Given the description of an element on the screen output the (x, y) to click on. 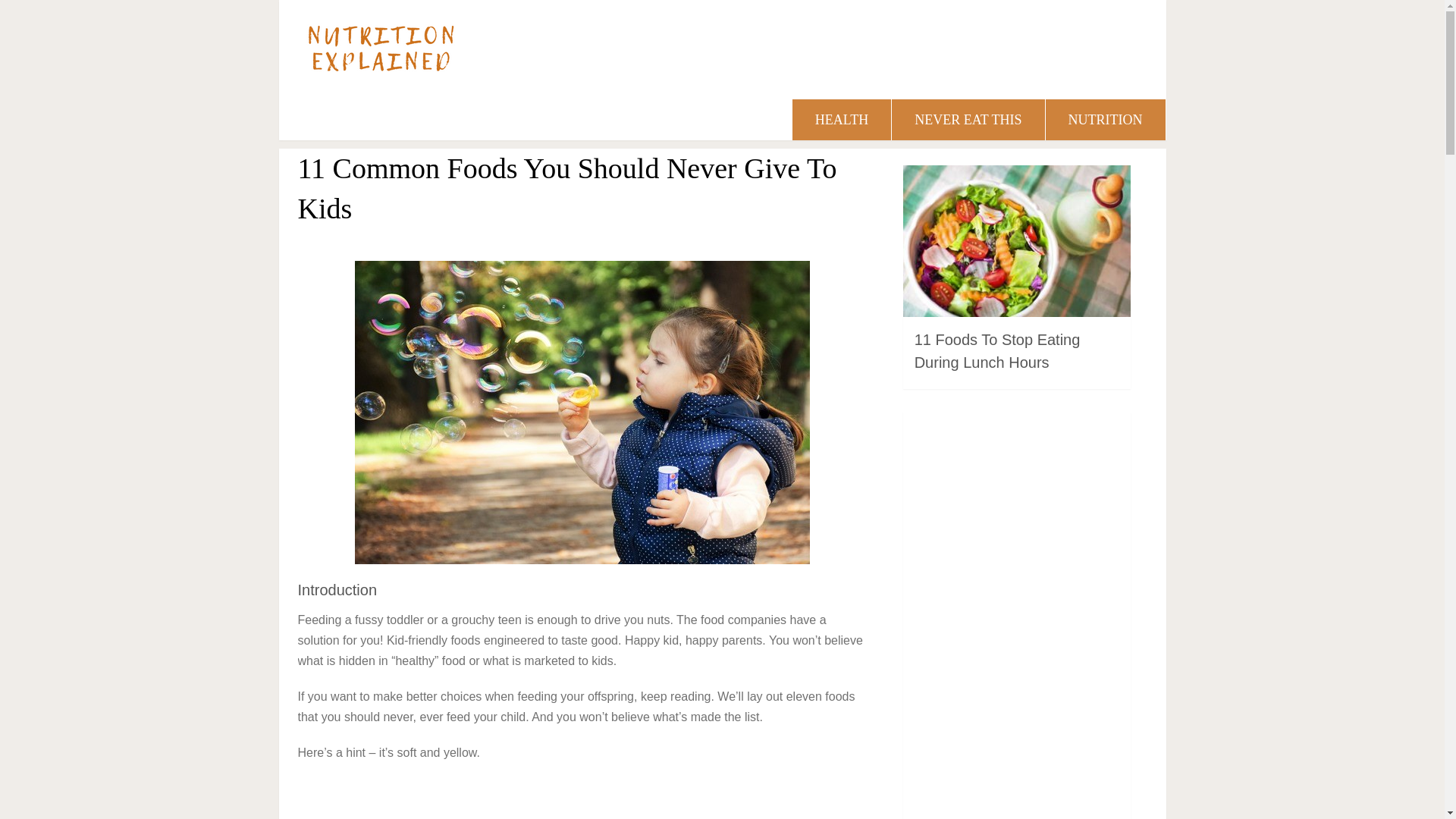
11 Foods To Stop Eating During Lunch Hours (997, 351)
Advertisement (1016, 618)
HEALTH (841, 119)
Advertisement (582, 798)
11 Foods To Stop Eating During Lunch Hours (997, 351)
NEVER EAT THIS (967, 119)
NUTRITION (1105, 119)
